Given the description of an element on the screen output the (x, y) to click on. 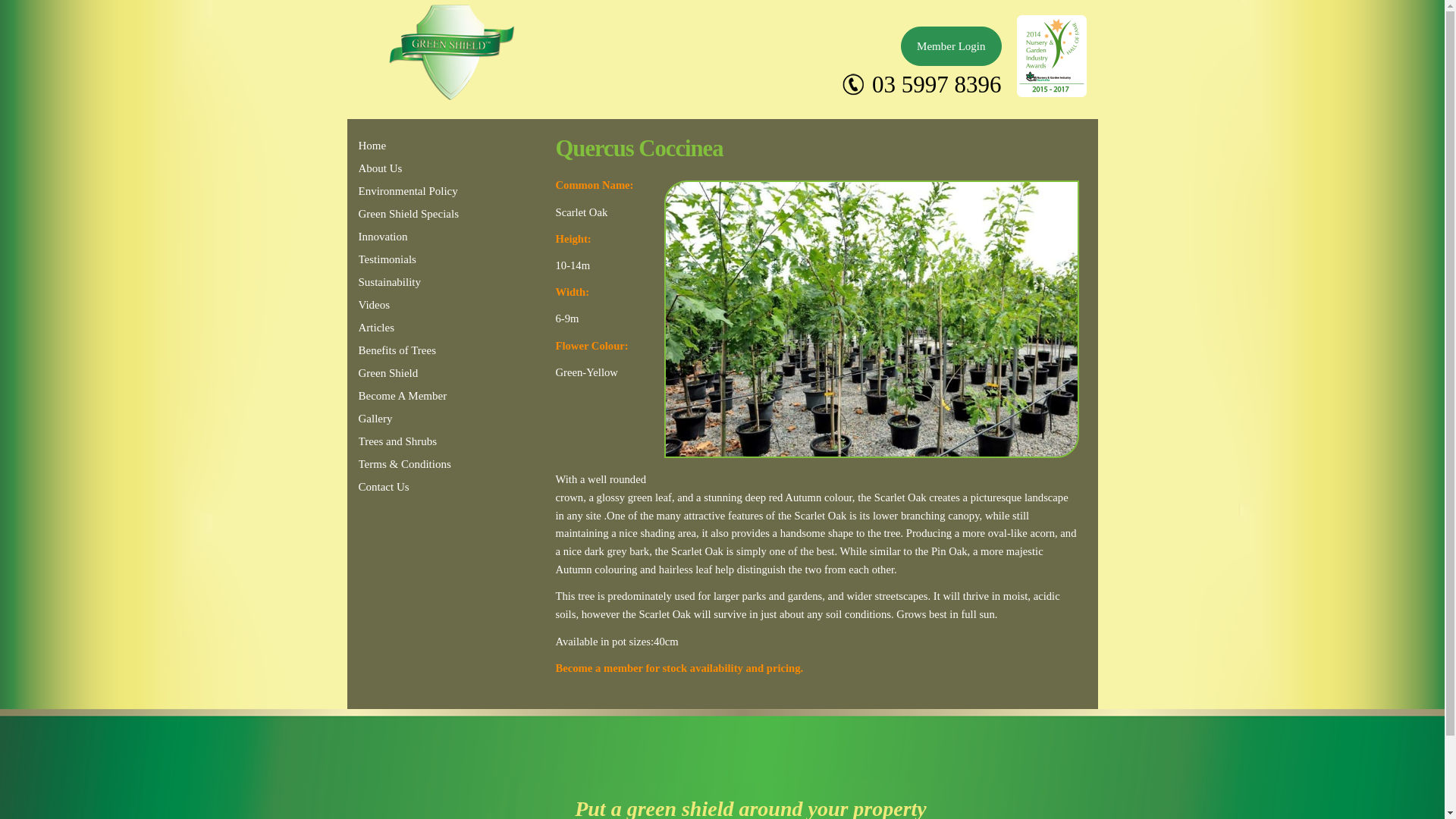
Videos Element type: text (413, 304)
Articles Element type: text (413, 327)
Become A Member Element type: text (413, 395)
Green Shield Specials Element type: text (413, 213)
Environmental Policy Element type: text (413, 190)
Sustainability Element type: text (413, 281)
Home Element type: text (413, 145)
Green Shield Element type: text (413, 372)
Terms & Conditions Element type: text (413, 463)
Testimonials Element type: text (413, 258)
Benefits of Trees Element type: text (413, 349)
Contact Us Element type: text (413, 486)
Innovation Element type: text (413, 236)
Gallery Element type: text (413, 418)
Trees and Shrubs Element type: text (413, 440)
Member Login Element type: text (950, 45)
About Us Element type: text (413, 167)
